Given the description of an element on the screen output the (x, y) to click on. 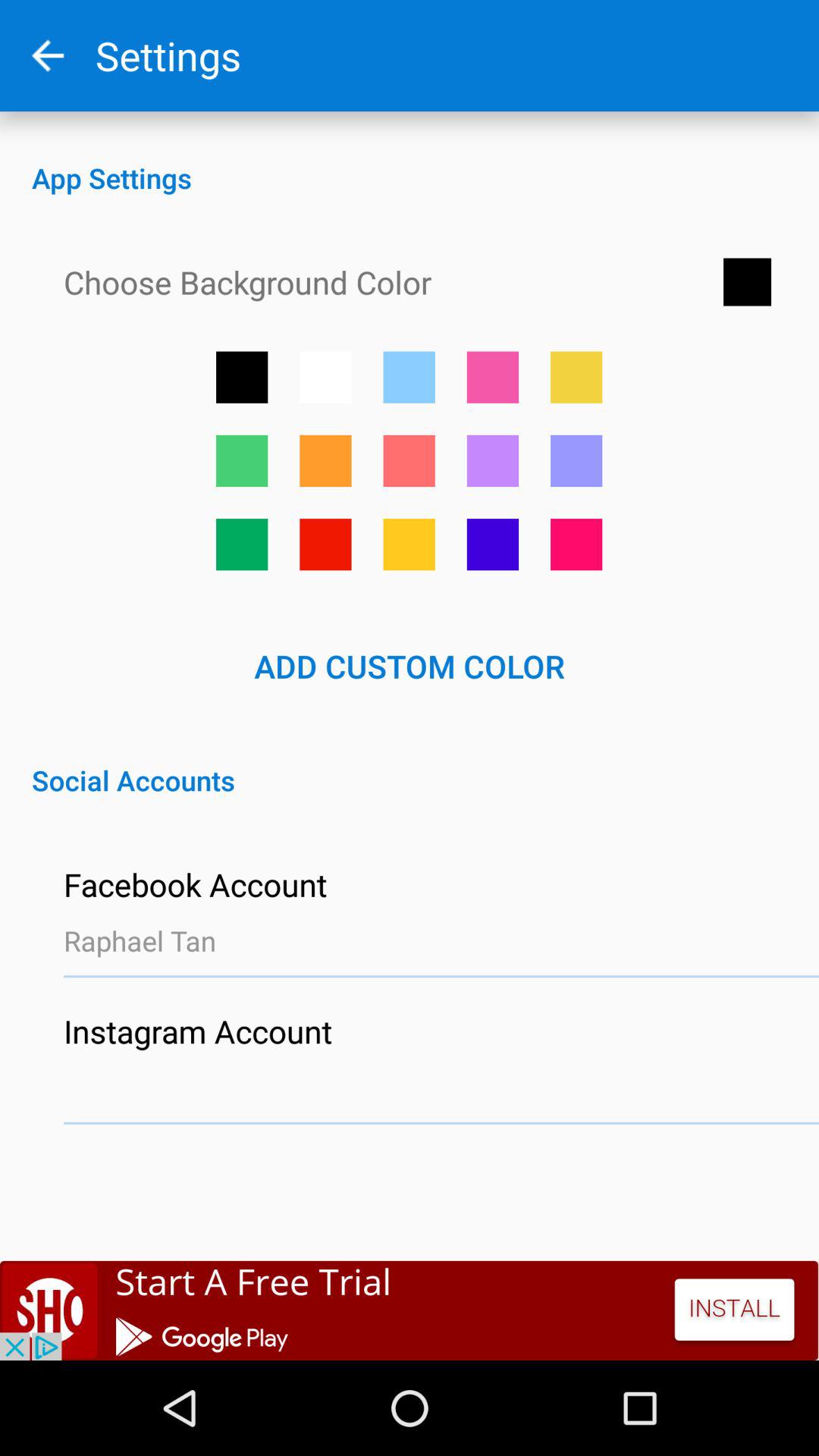
opens advertisement (409, 1310)
